Given the description of an element on the screen output the (x, y) to click on. 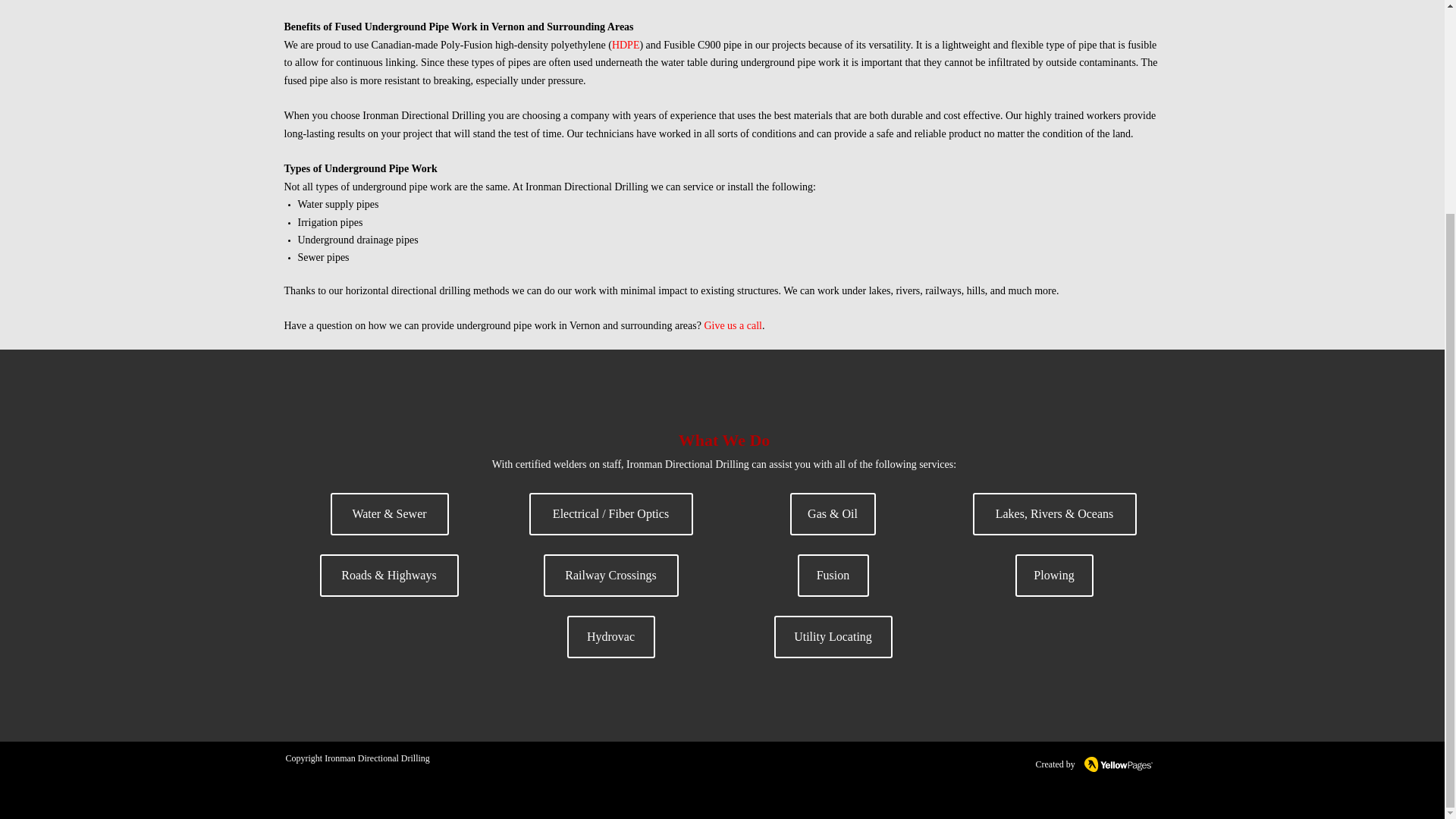
Plowing (1053, 575)
HDPE (625, 44)
Give us a call (732, 325)
Fusion (833, 575)
Railway Crossings (610, 575)
